Given the description of an element on the screen output the (x, y) to click on. 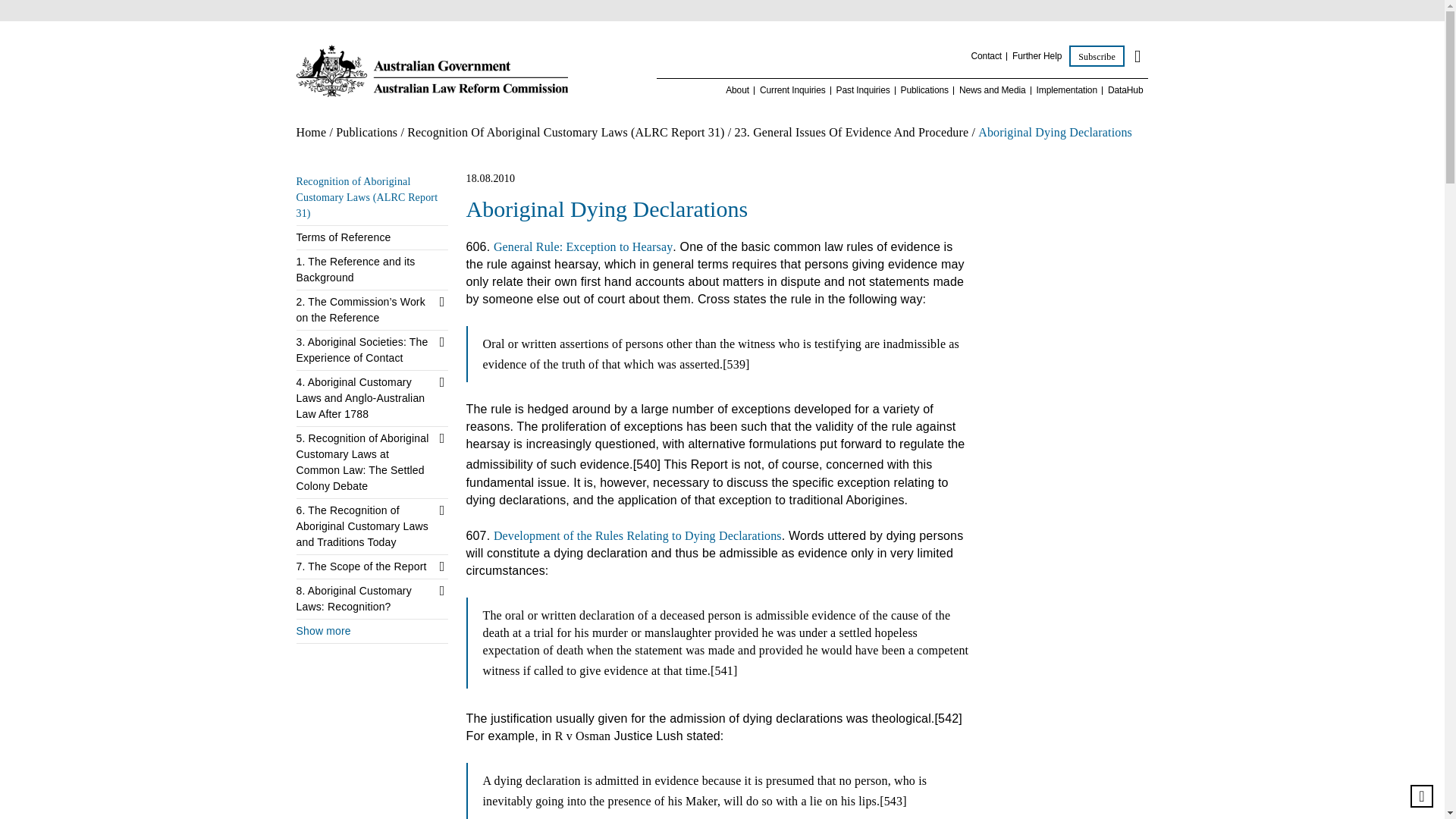
Contact (986, 56)
Current Inquiries (792, 90)
Past Inquiries (862, 90)
Current Inquiries (792, 90)
Further help (1036, 56)
Australian Law Reform Commission (431, 71)
Contact (986, 56)
Subscribe (1096, 55)
Further Help (1036, 56)
Subscribe (1096, 55)
